Given the description of an element on the screen output the (x, y) to click on. 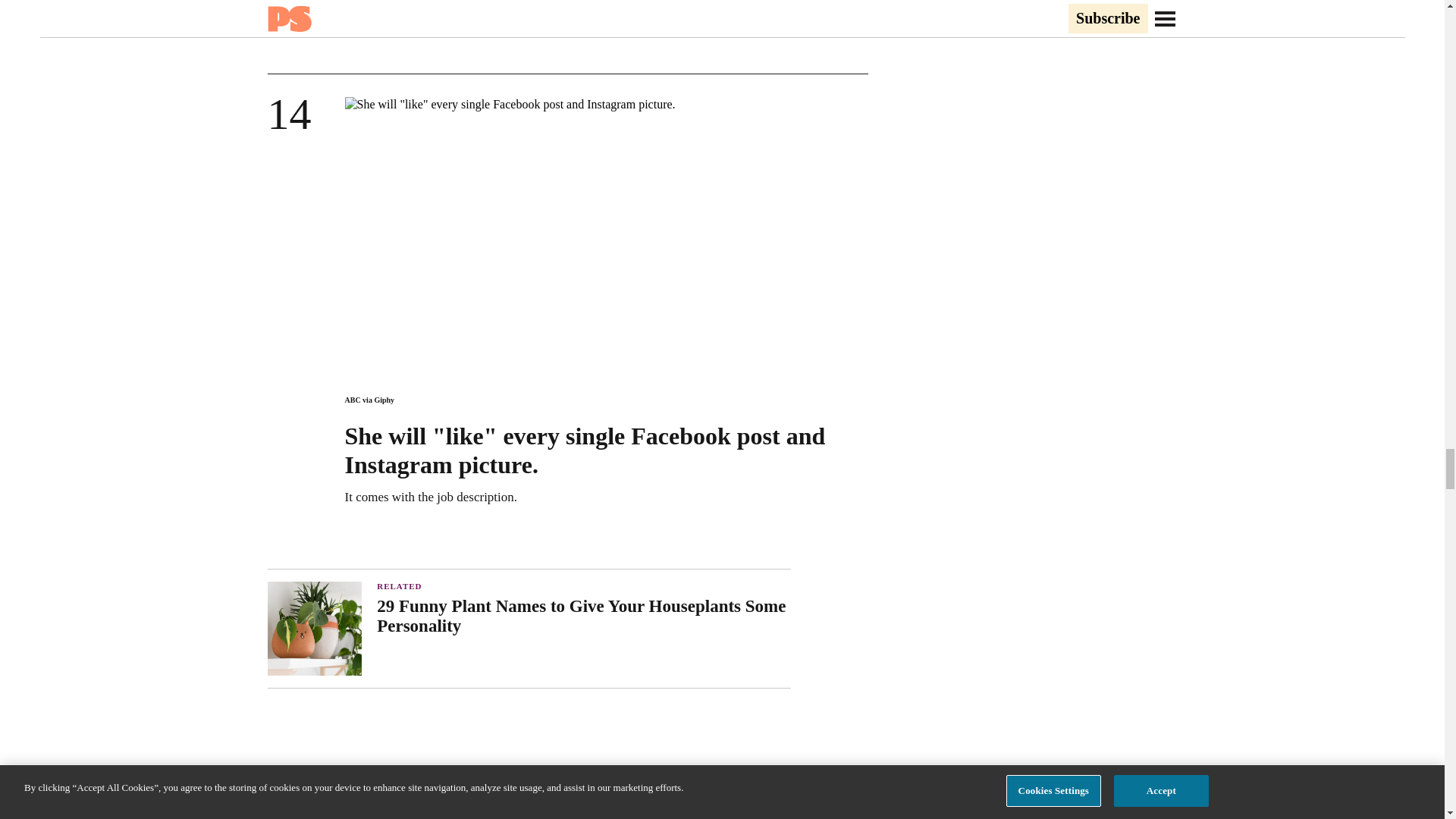
ABC via Giphy (368, 399)
